Given the description of an element on the screen output the (x, y) to click on. 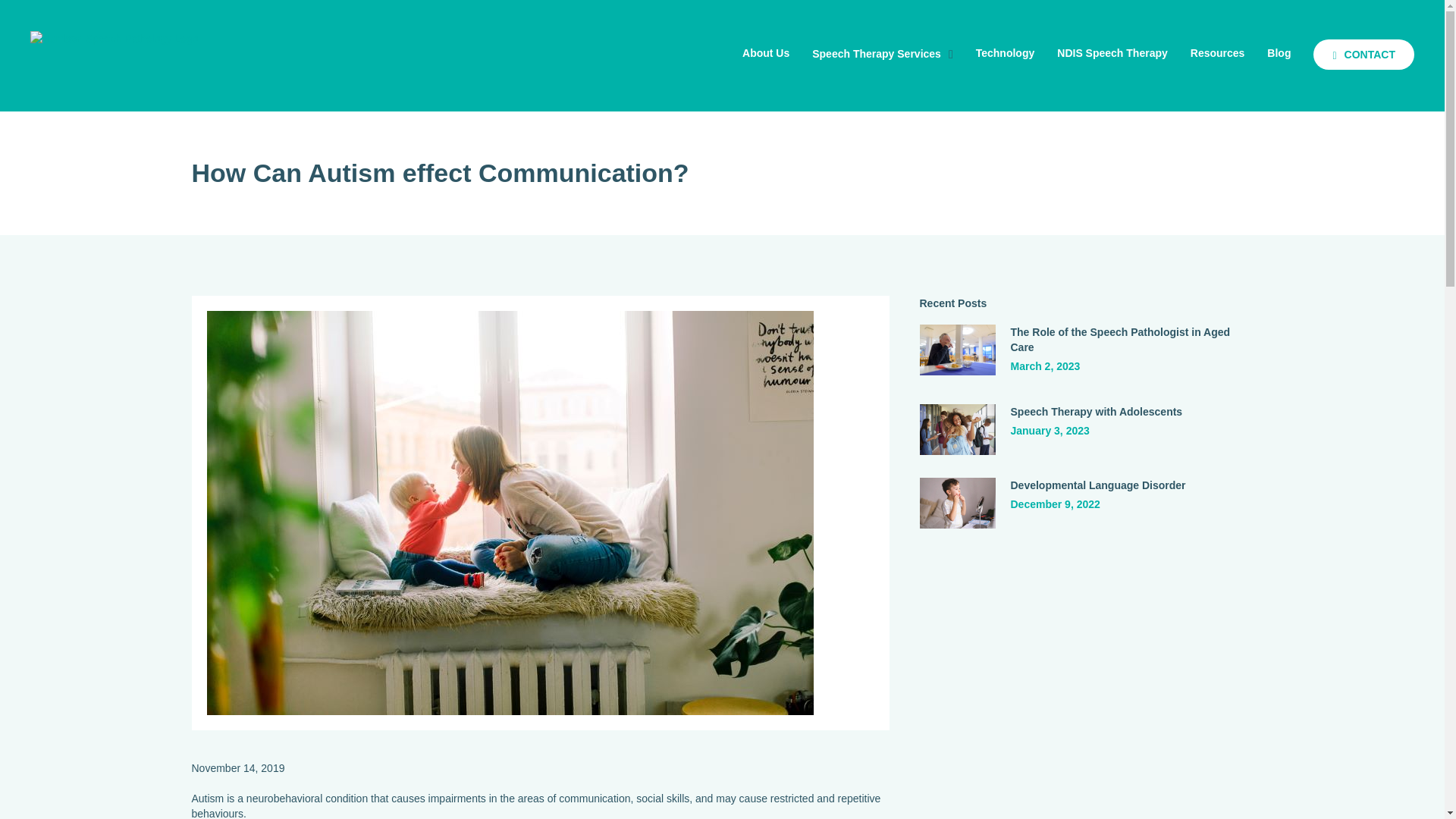
The Role of the Speech Pathologist in Aged Care Element type: hover (956, 348)
Blog Element type: text (1278, 52)
About Us Element type: text (765, 52)
The Role of the Speech Pathologist in Aged Care Element type: text (1120, 339)
Resources Element type: text (1217, 52)
Developmental Language Disorder Element type: text (1097, 485)
Speech Therapy with Adolescents Element type: hover (956, 428)
Harrison Speech Patholog Element type: hover (113, 38)
Speech Therapy with Adolescents Element type: text (1096, 411)
Technology Element type: text (1005, 52)
Developmental Language Disorder Element type: hover (956, 501)
Speech Therapy Services Element type: text (882, 53)
NDIS Speech Therapy Element type: text (1112, 52)
CONTACT Element type: text (1363, 54)
